Given the description of an element on the screen output the (x, y) to click on. 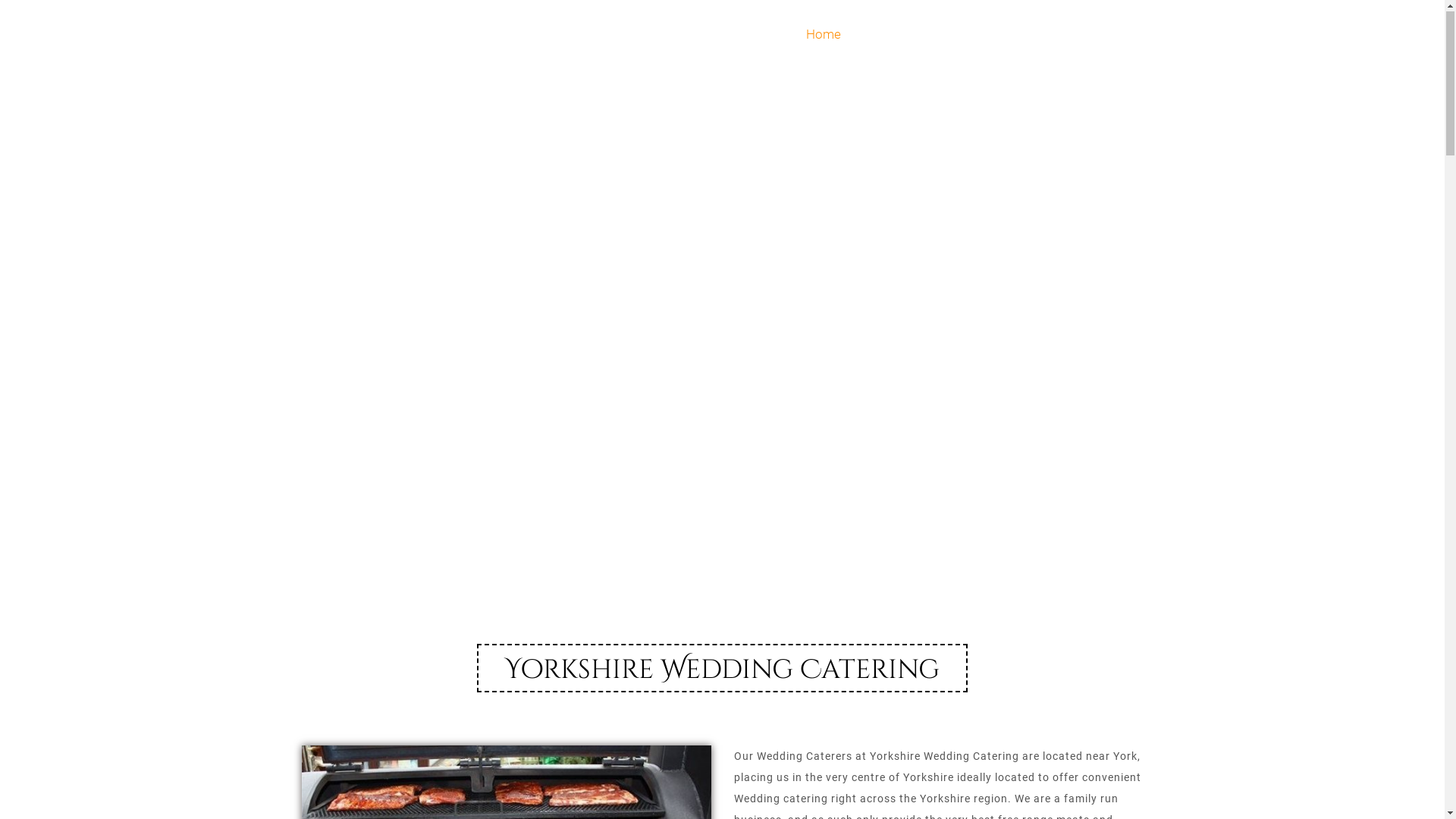
Yorkshire Wedding Catering Element type: text (469, 33)
Sides Element type: text (961, 34)
Menus Element type: text (893, 34)
Home Element type: text (823, 34)
Gallery Element type: text (1029, 34)
Contact Element type: text (1104, 34)
